Given the description of an element on the screen output the (x, y) to click on. 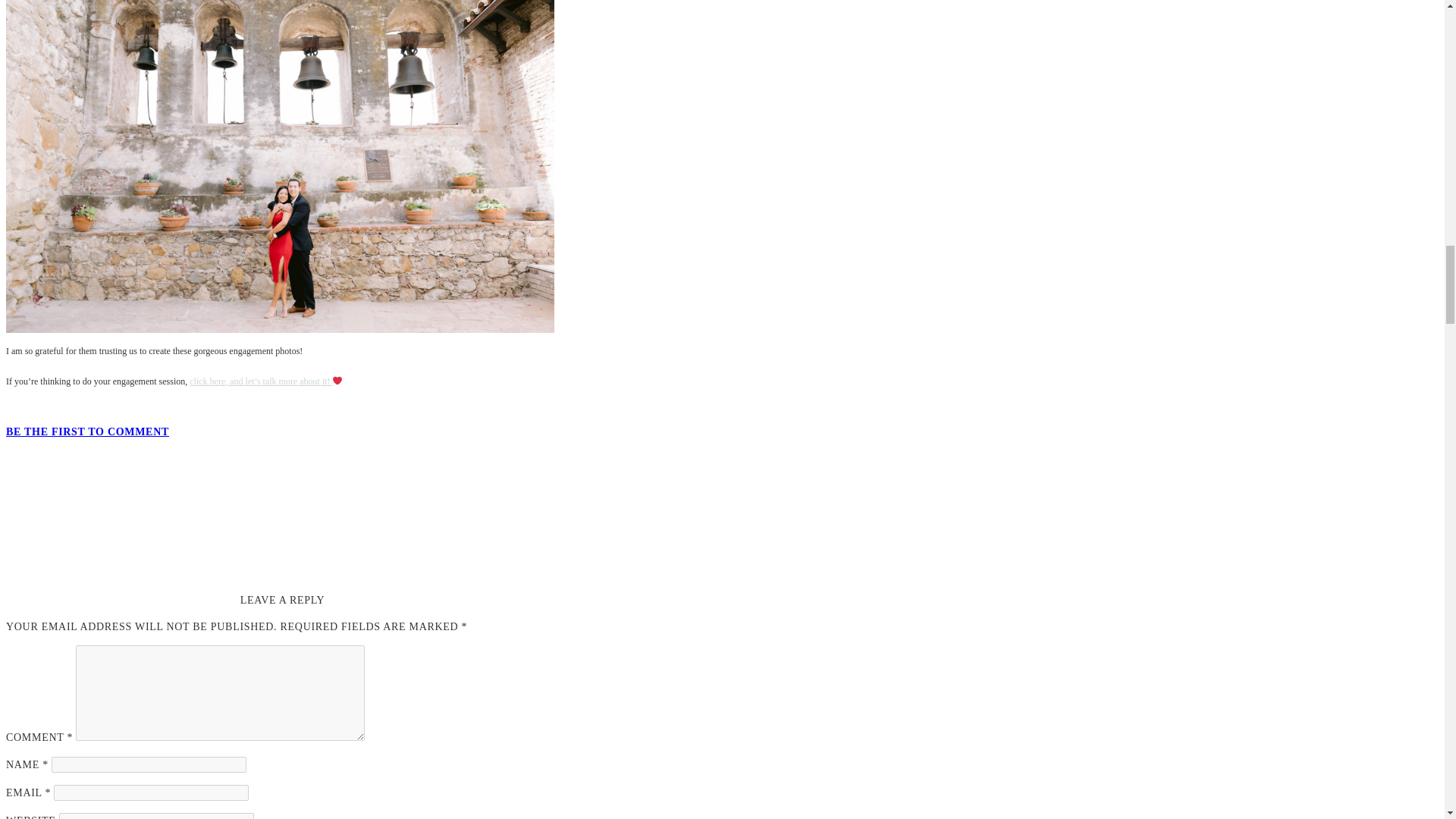
BE THE FIRST TO COMMENT (86, 431)
